Given the description of an element on the screen output the (x, y) to click on. 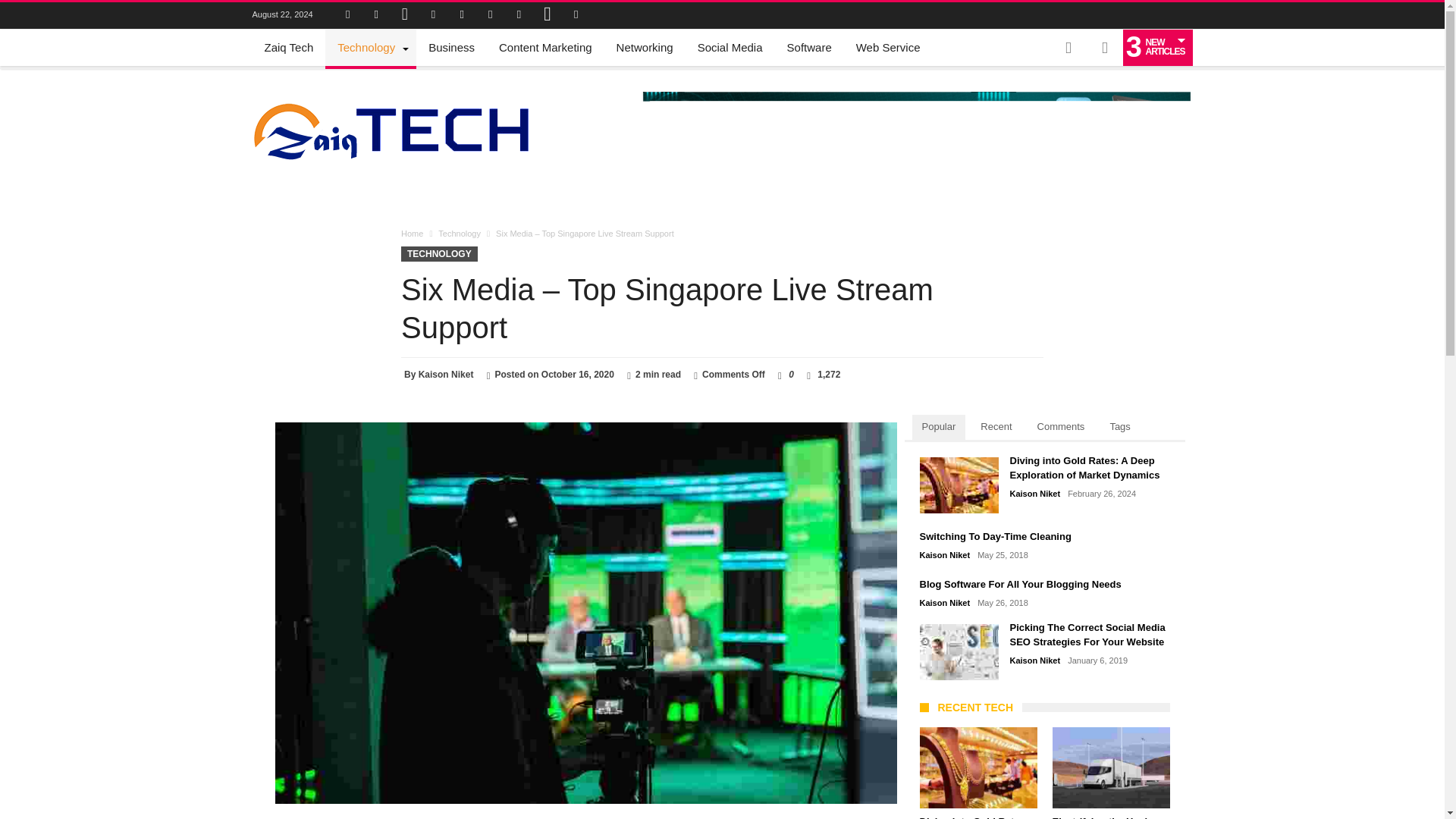
Flickr (461, 15)
Zaiq Tech (287, 47)
Dribbble (433, 15)
Business (451, 47)
Twitter (376, 15)
Content Marketing (545, 47)
Facebook (347, 15)
Technology (370, 47)
Web Service (888, 47)
Social Media (729, 47)
